Given the description of an element on the screen output the (x, y) to click on. 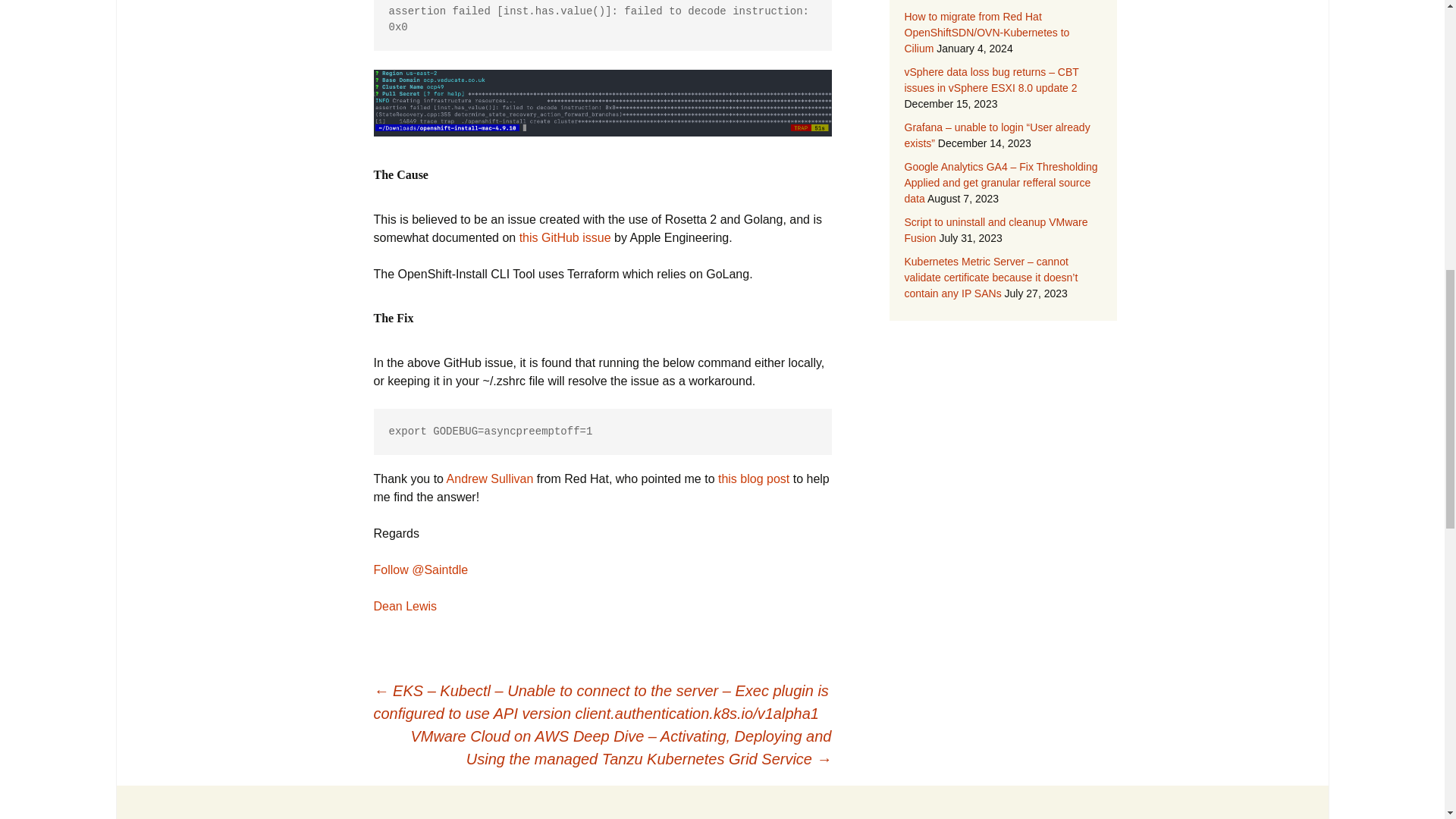
this blog post (753, 478)
Dean Lewis (404, 605)
this GitHub issue (565, 237)
Andrew Sullivan (490, 478)
